Given the description of an element on the screen output the (x, y) to click on. 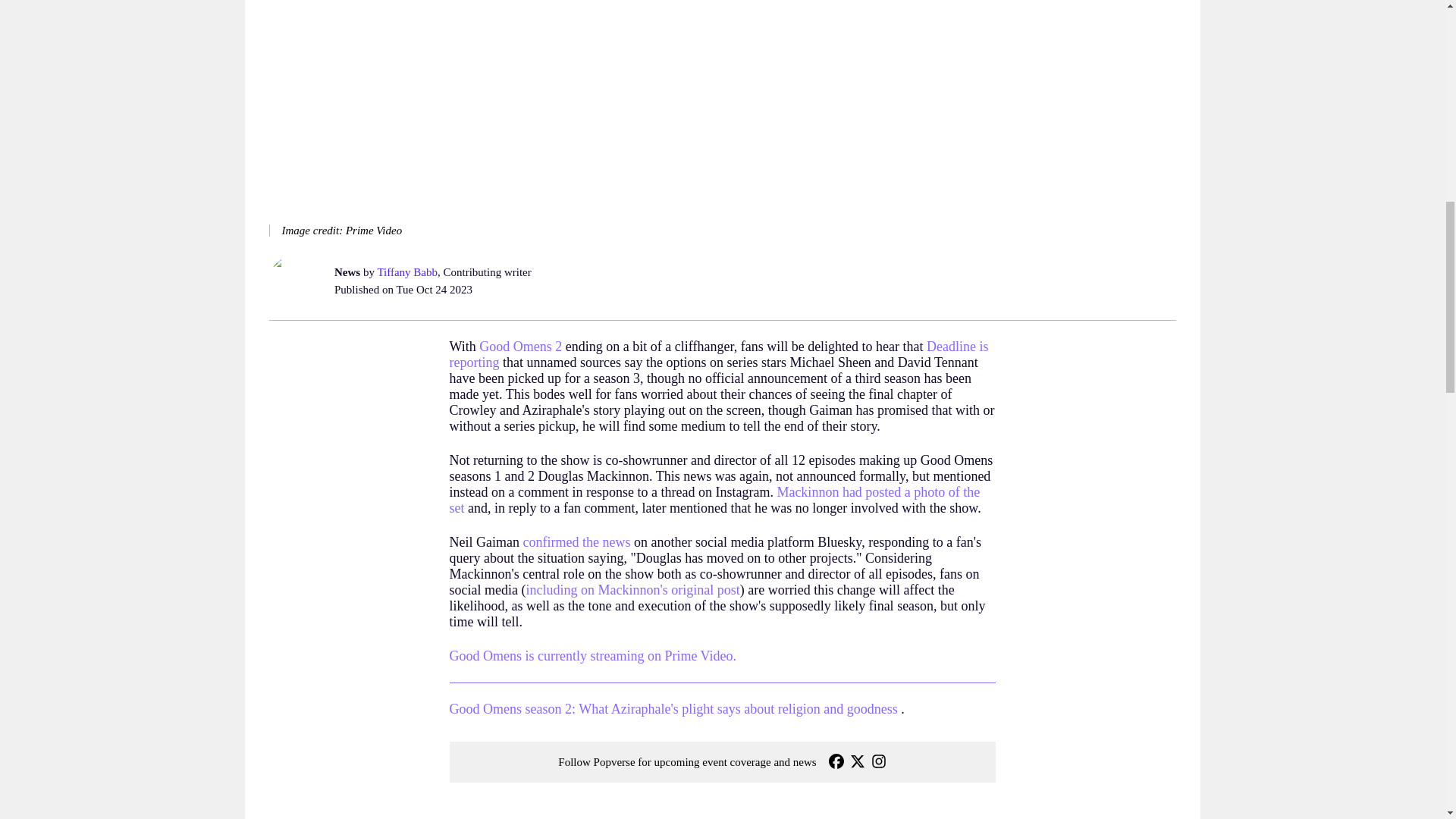
Deadline is reporting (718, 354)
including on Mackinnon's original post (632, 589)
Mackinnon had posted a photo of the set (713, 499)
confirmed the news (576, 541)
Good Omens 2 (520, 346)
Tiffany Babb (407, 272)
Good Omens is currently streaming on Prime Video. (592, 655)
